Given the description of an element on the screen output the (x, y) to click on. 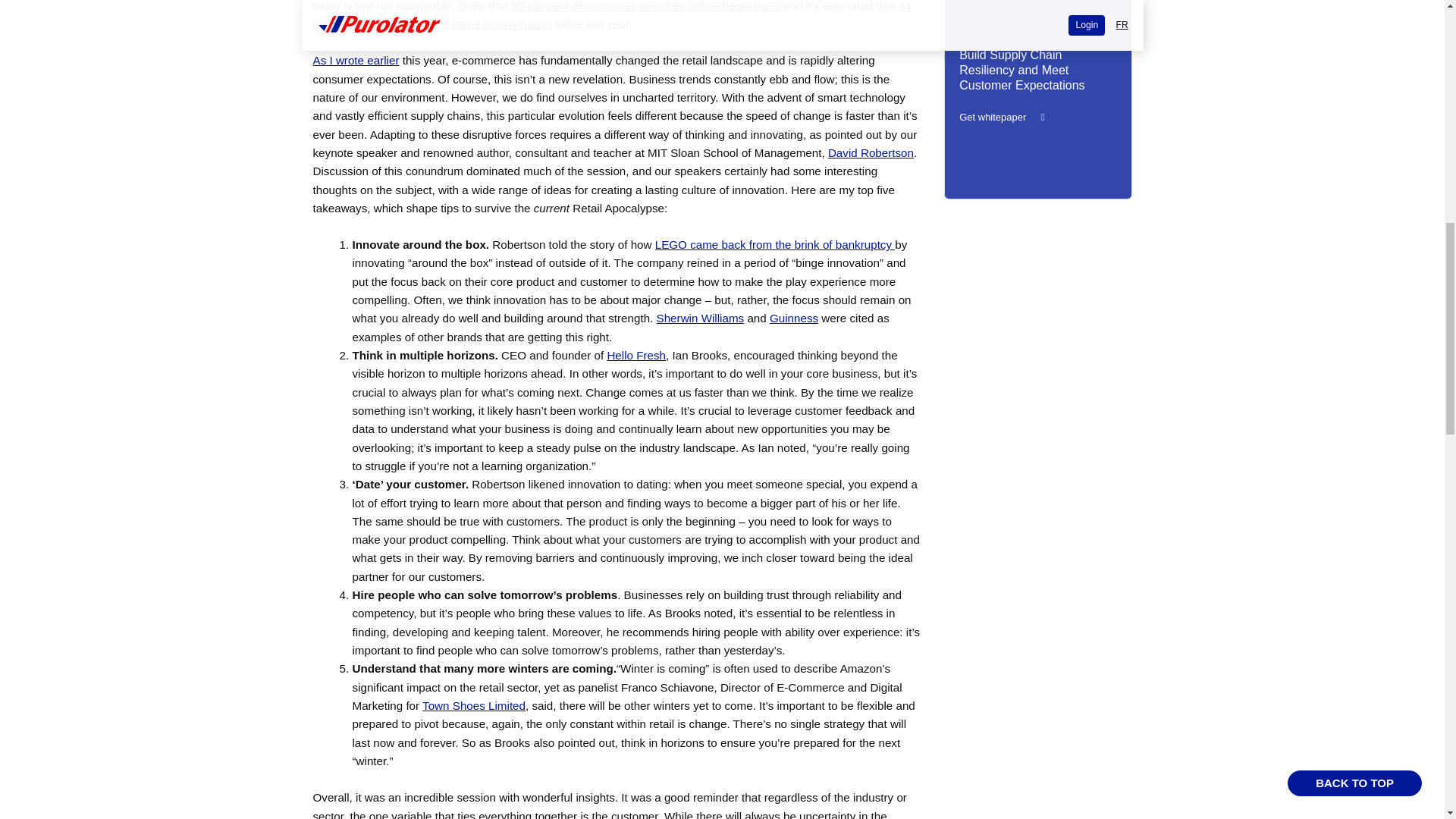
Hello Fresh (636, 354)
LEGO came back from the brink of bankruptcy (775, 244)
55 per cent of consumer searches online begin there (645, 6)
44 per cent of all e-commerce came from Amazon (612, 15)
As I wrote earlier (355, 60)
Sherwin Williams (700, 318)
David Robertson (871, 152)
Guinness (794, 318)
